Given the description of an element on the screen output the (x, y) to click on. 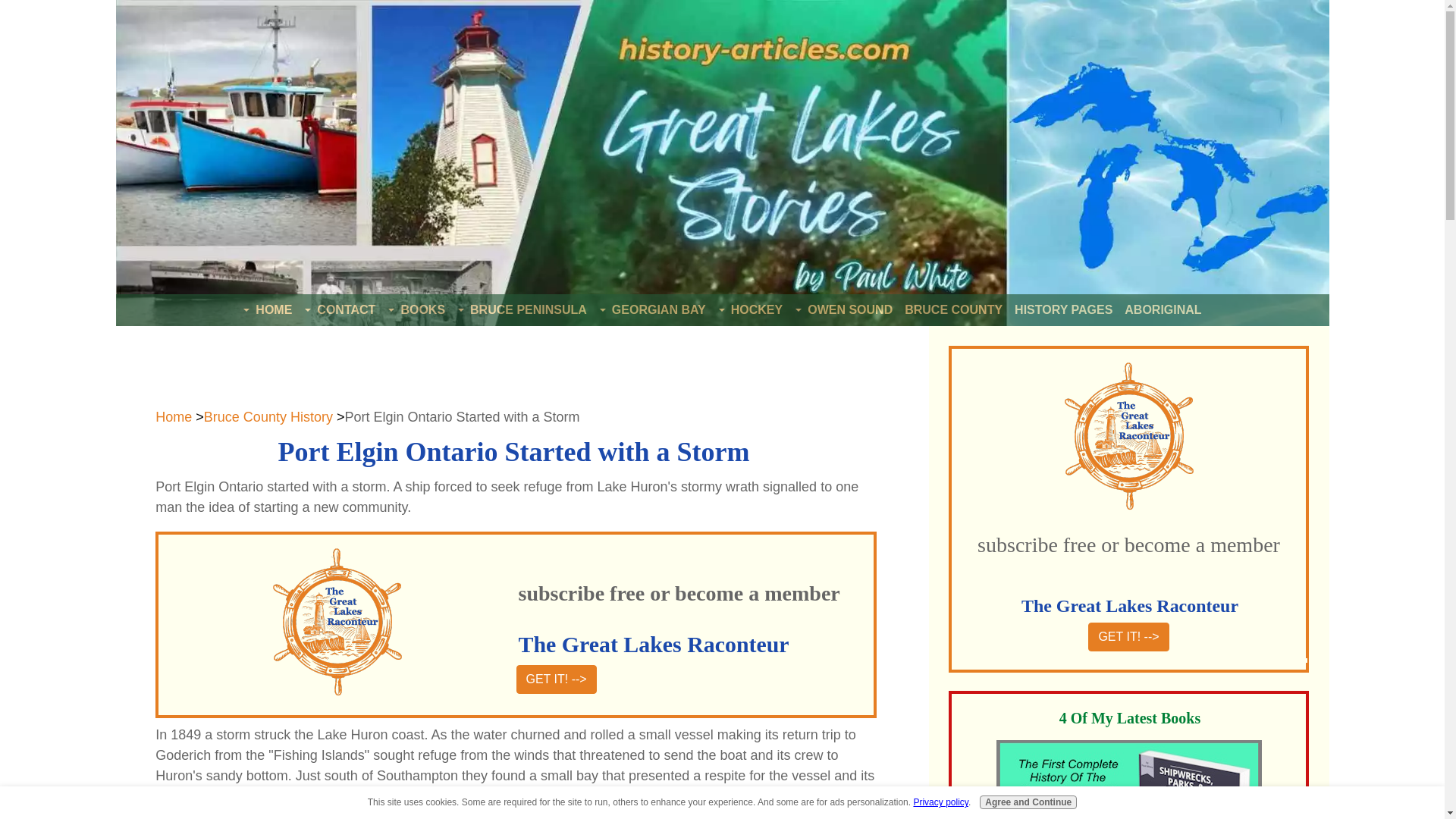
HISTORY PAGES (1063, 309)
thesis book right column (1128, 779)
BRUCE COUNTY (953, 309)
Go to Great Lakes Raconteur (1128, 636)
ABORIGINAL (1162, 309)
the-great-lakes-raconteur-200 (337, 621)
Go to Great Lakes Raconteur (555, 679)
Bruce County History (268, 417)
the-great-lakes-raconteur-200 (1128, 435)
Home (173, 417)
